Given the description of an element on the screen output the (x, y) to click on. 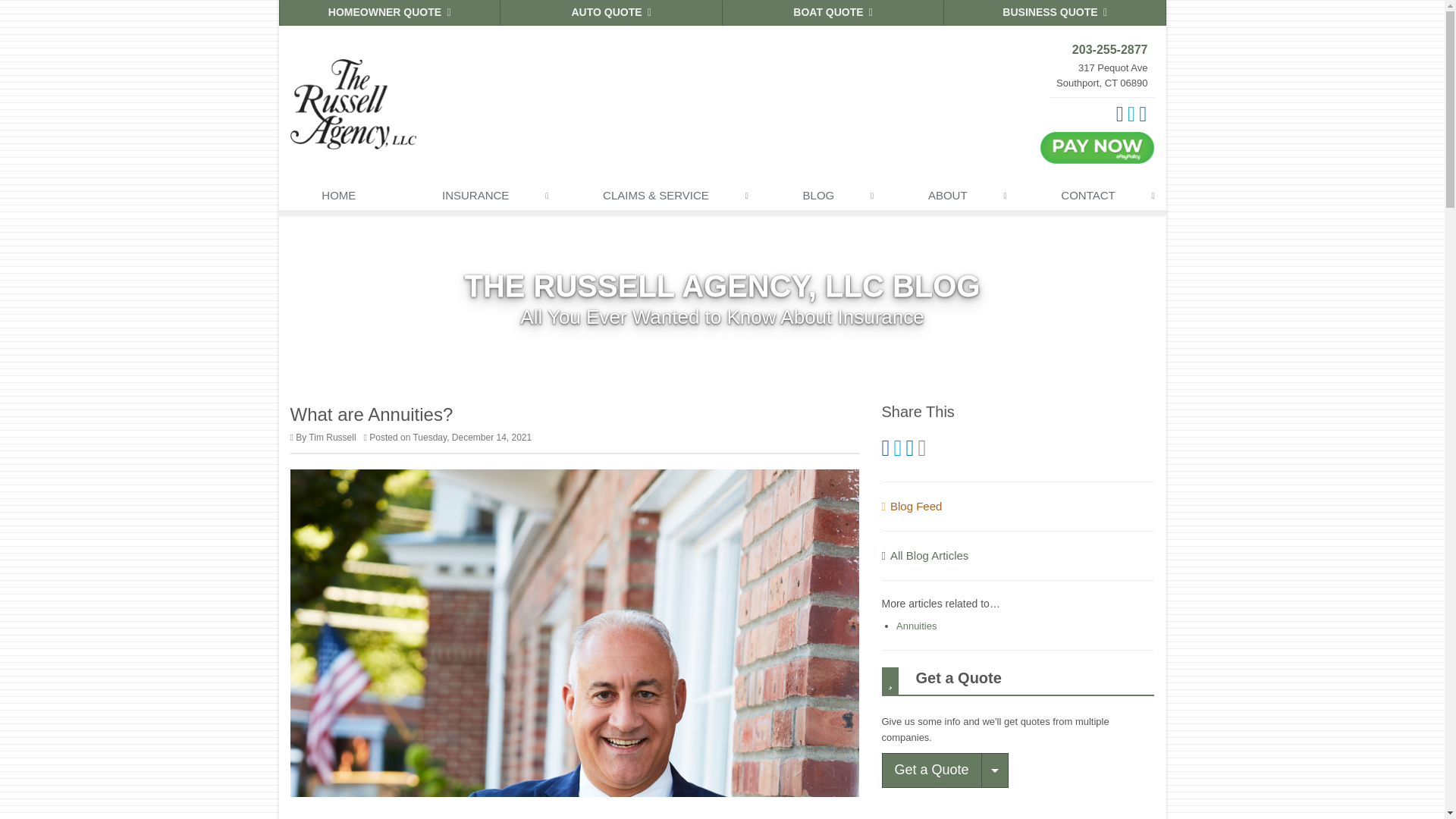
HOME (338, 198)
HOMEOWNER QUOTE (389, 12)
INSURANCE (478, 198)
BLOG (822, 198)
AUTO QUOTE (611, 12)
